Given the description of an element on the screen output the (x, y) to click on. 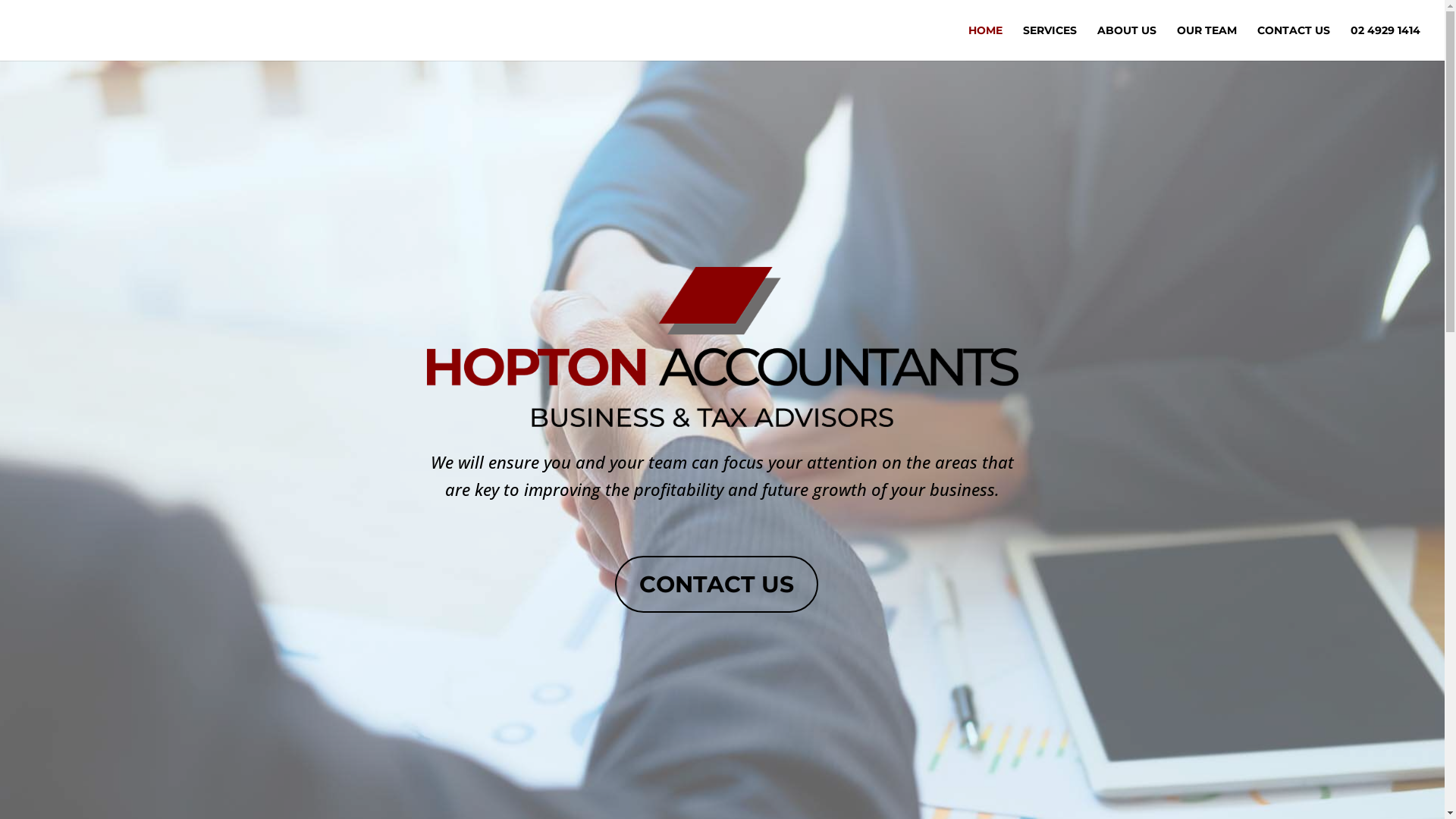
Public Practice Logo Online Element type: hover (993, 509)
admin@hoptonaccountants.com.au Element type: text (444, 687)
SERVICES Element type: text (634, 556)
CONTACT US Element type: text (643, 648)
HOME Element type: text (623, 525)
CONTACT US Element type: text (1293, 42)
02 4929 1414 Element type: text (1385, 42)
OUR TEAM Element type: text (636, 618)
CONTACT US Element type: text (716, 583)
LIMITED LIABILITY Element type: text (658, 679)
ABOUT US Element type: text (1126, 42)
SERVICES Element type: text (1049, 42)
Pepin Co. Element type: text (1122, 781)
OUR TEAM Element type: text (1206, 42)
HOME Element type: text (985, 42)
ABOUT US Element type: text (636, 587)
